Given the description of an element on the screen output the (x, y) to click on. 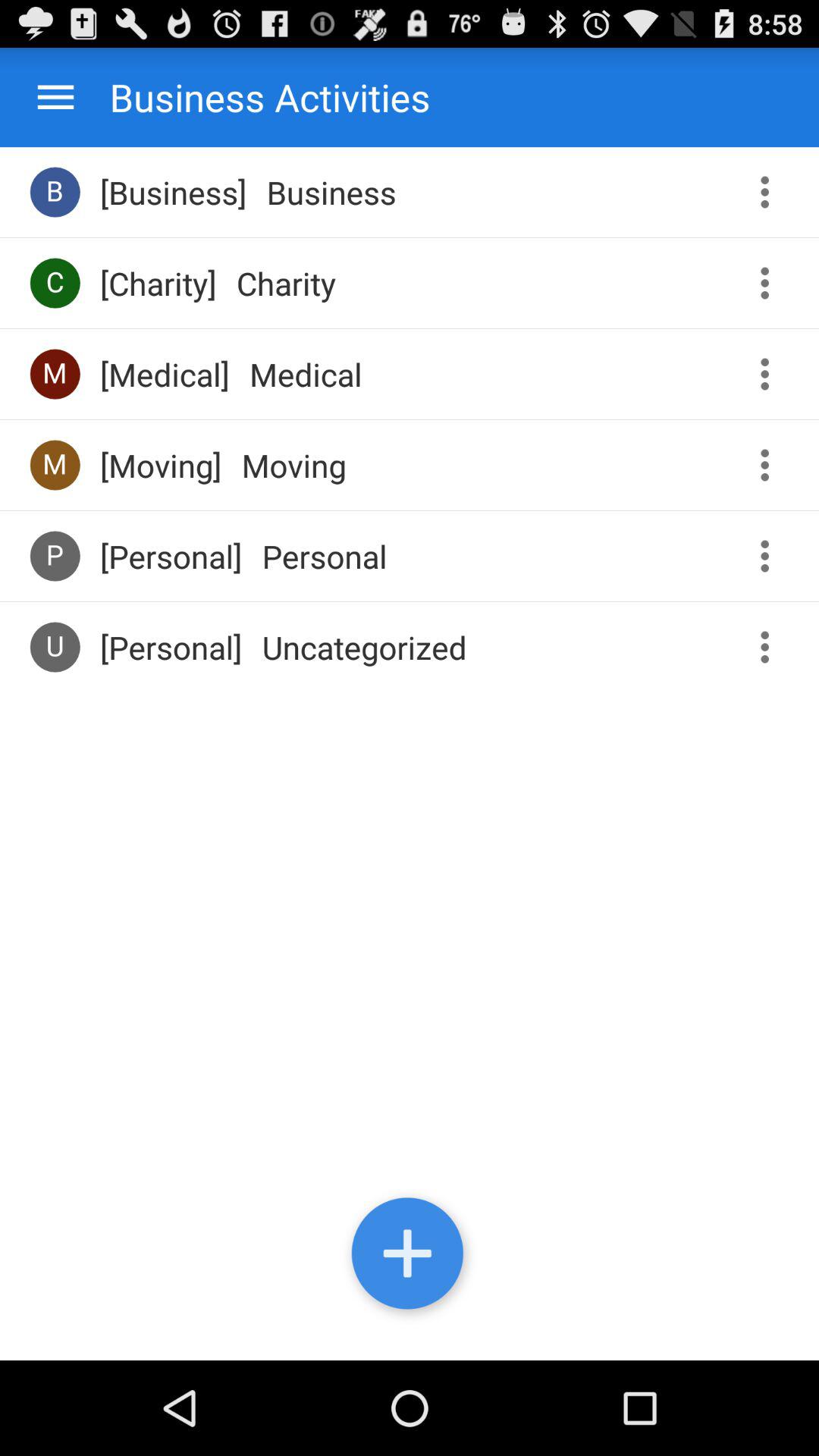
see more options (770, 465)
